Given the description of an element on the screen output the (x, y) to click on. 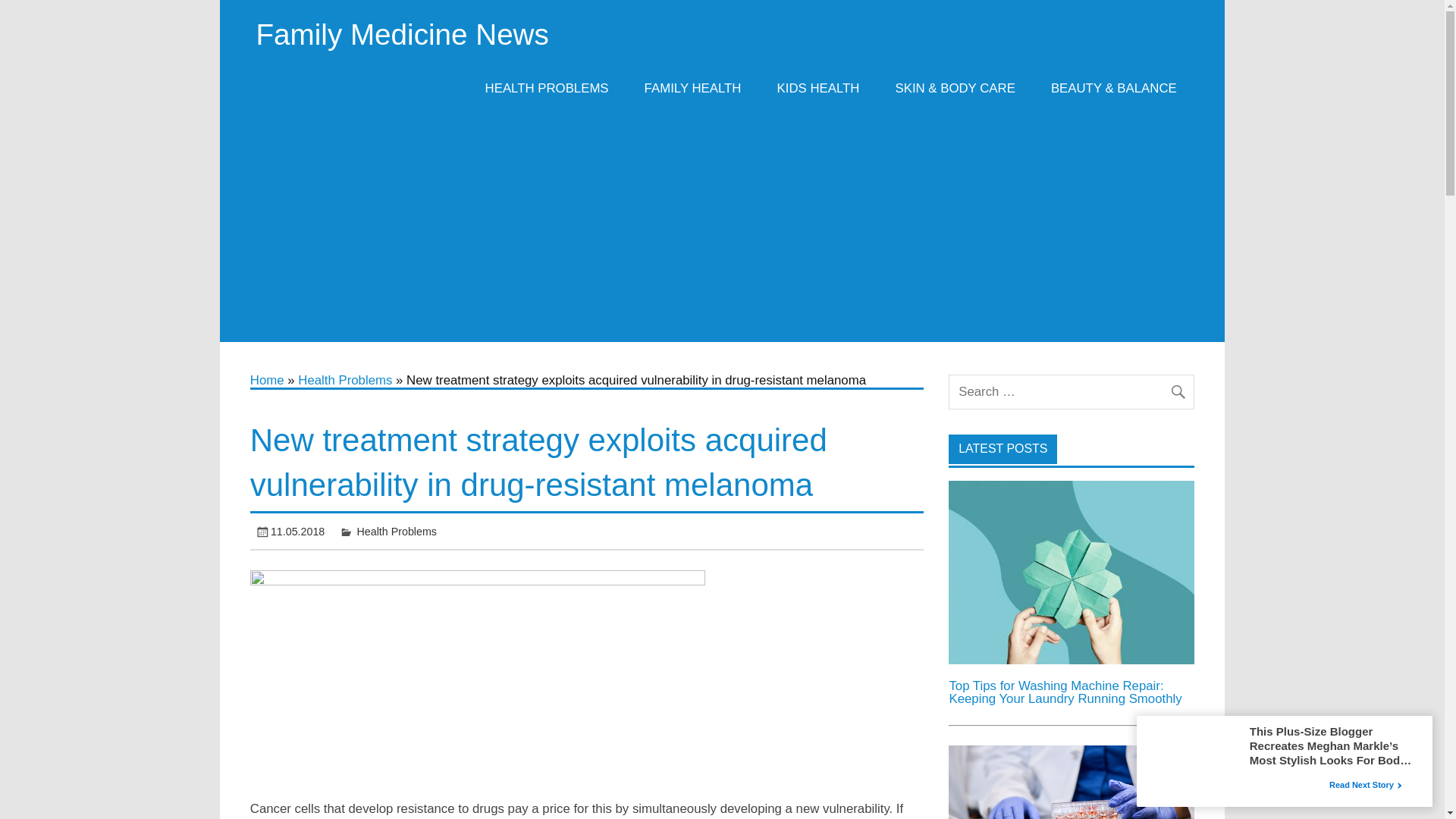
Health Problems (396, 531)
09:07 (297, 531)
HEALTH PROBLEMS (546, 88)
KIDS HEALTH (817, 88)
11.05.2018 (297, 531)
Family Medicine News (402, 34)
Home (266, 380)
Health Problems (344, 380)
FAMILY HEALTH (692, 88)
